Given the description of an element on the screen output the (x, y) to click on. 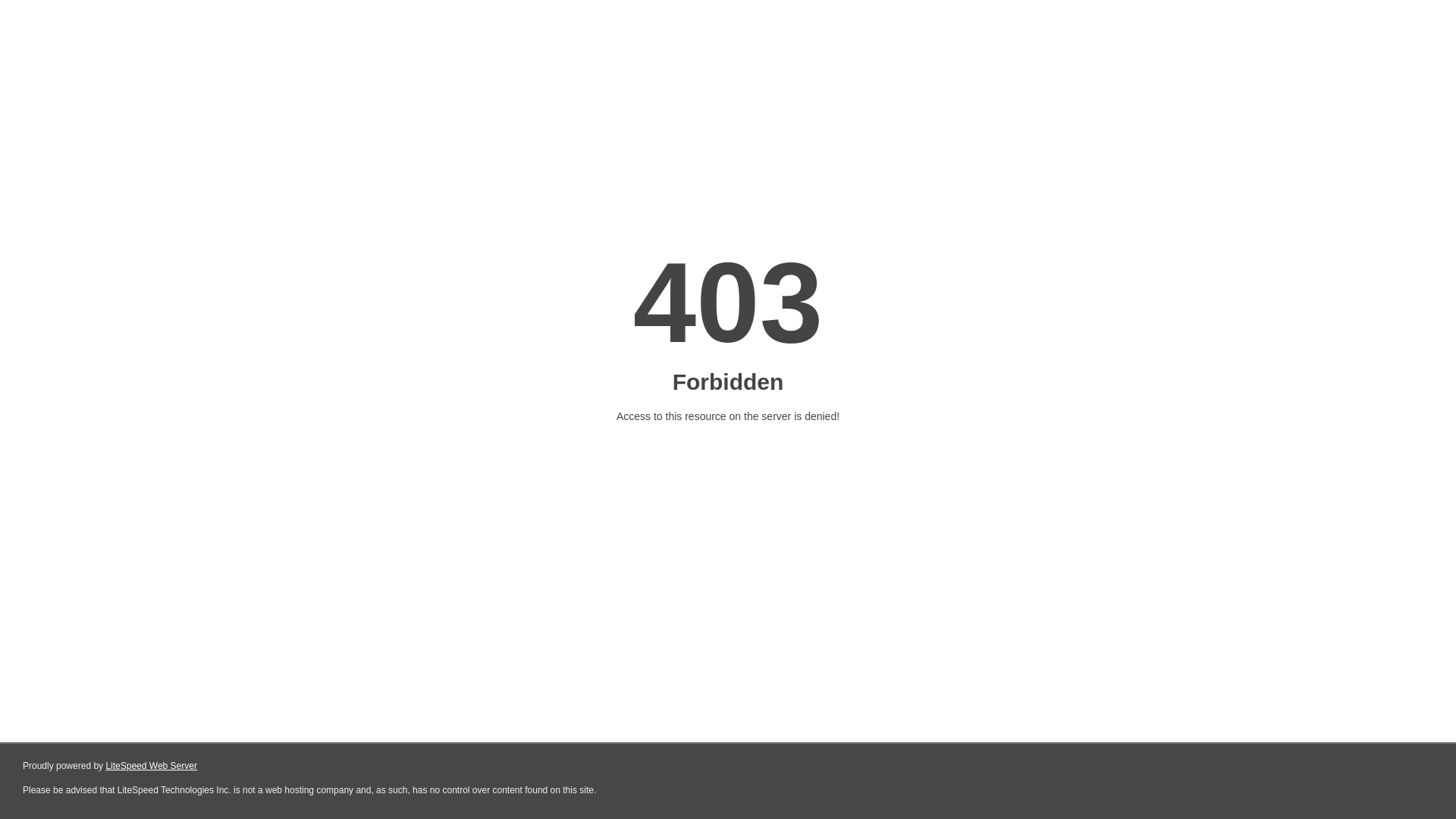
LiteSpeed Web Server Element type: text (151, 765)
